Given the description of an element on the screen output the (x, y) to click on. 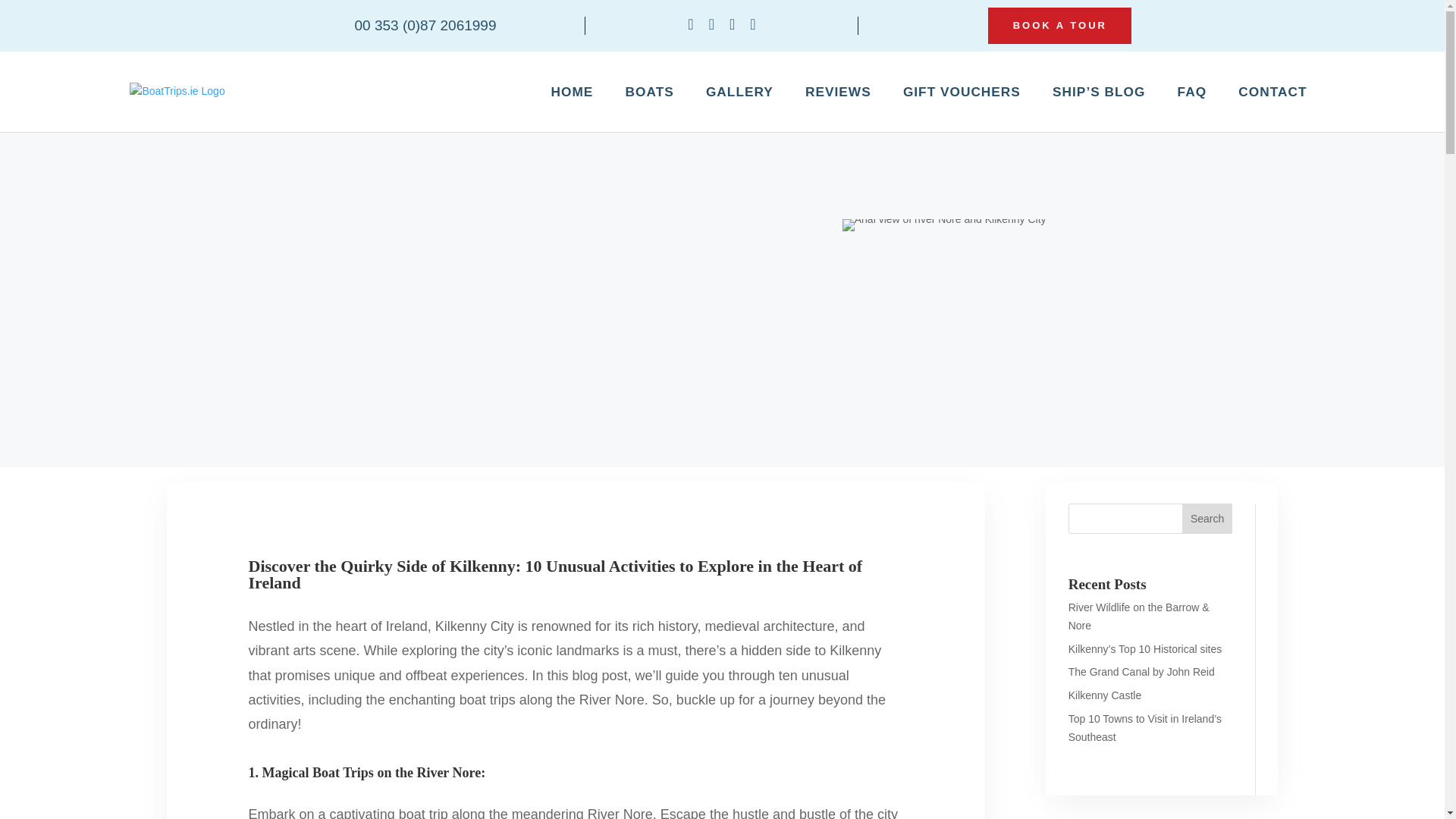
Search (1206, 518)
River Nore in Kilkenny City (944, 224)
CONTACT (1272, 91)
GALLERY (739, 91)
Kilkenny Castle (1104, 695)
REVIEWS (837, 91)
BOOK A TOUR (1059, 25)
GIFT VOUCHERS (961, 91)
The Grand Canal by John Reid (1141, 671)
Search (1206, 518)
